Given the description of an element on the screen output the (x, y) to click on. 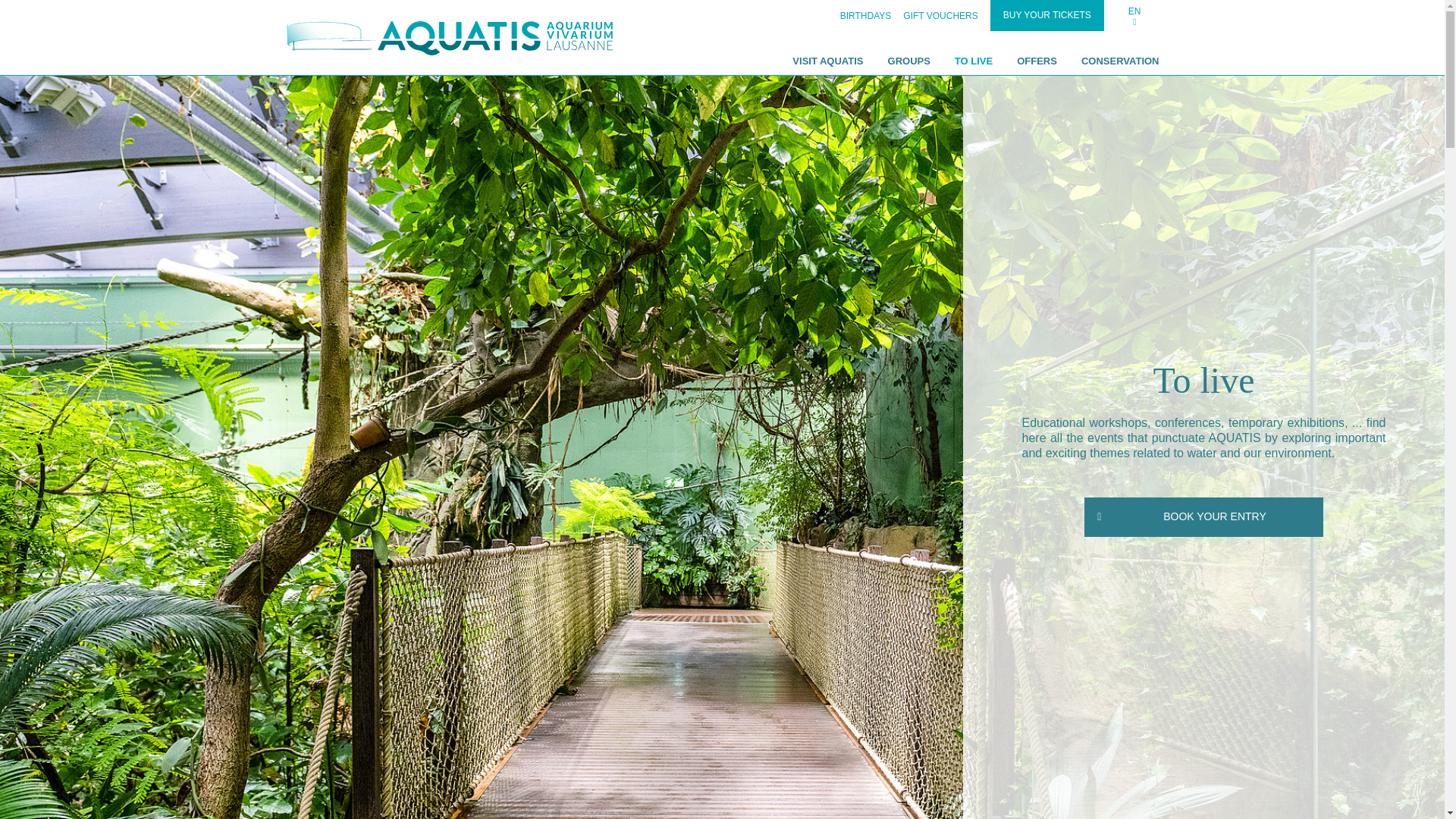
Visit Aquatis (827, 60)
Birthdays (866, 15)
Gift Vouchers (940, 15)
CONSERVATION (1120, 60)
BUY YOUR TICKETS (1046, 15)
VISIT AQUATIS (827, 60)
OFFERS (1036, 60)
GIFT VOUCHERS (940, 15)
BIRTHDAYS (866, 15)
GROUPS (909, 60)
